Given the description of an element on the screen output the (x, y) to click on. 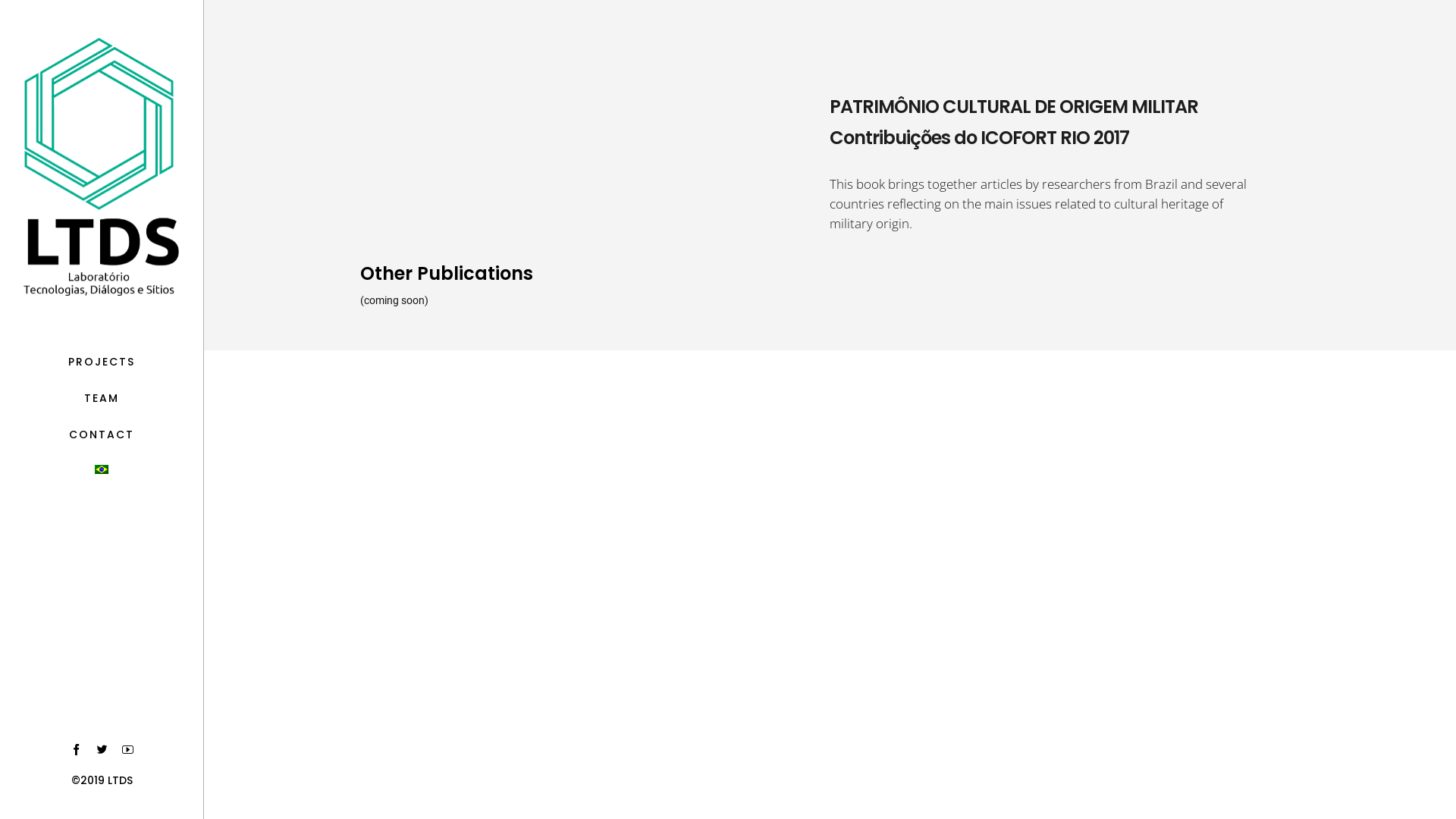
PROJECTS Element type: text (101, 364)
youtube Element type: hover (127, 749)
CONTACT Element type: text (101, 436)
twitter Element type: hover (101, 749)
TEAM Element type: text (101, 399)
facebook Element type: hover (75, 749)
